Given the description of an element on the screen output the (x, y) to click on. 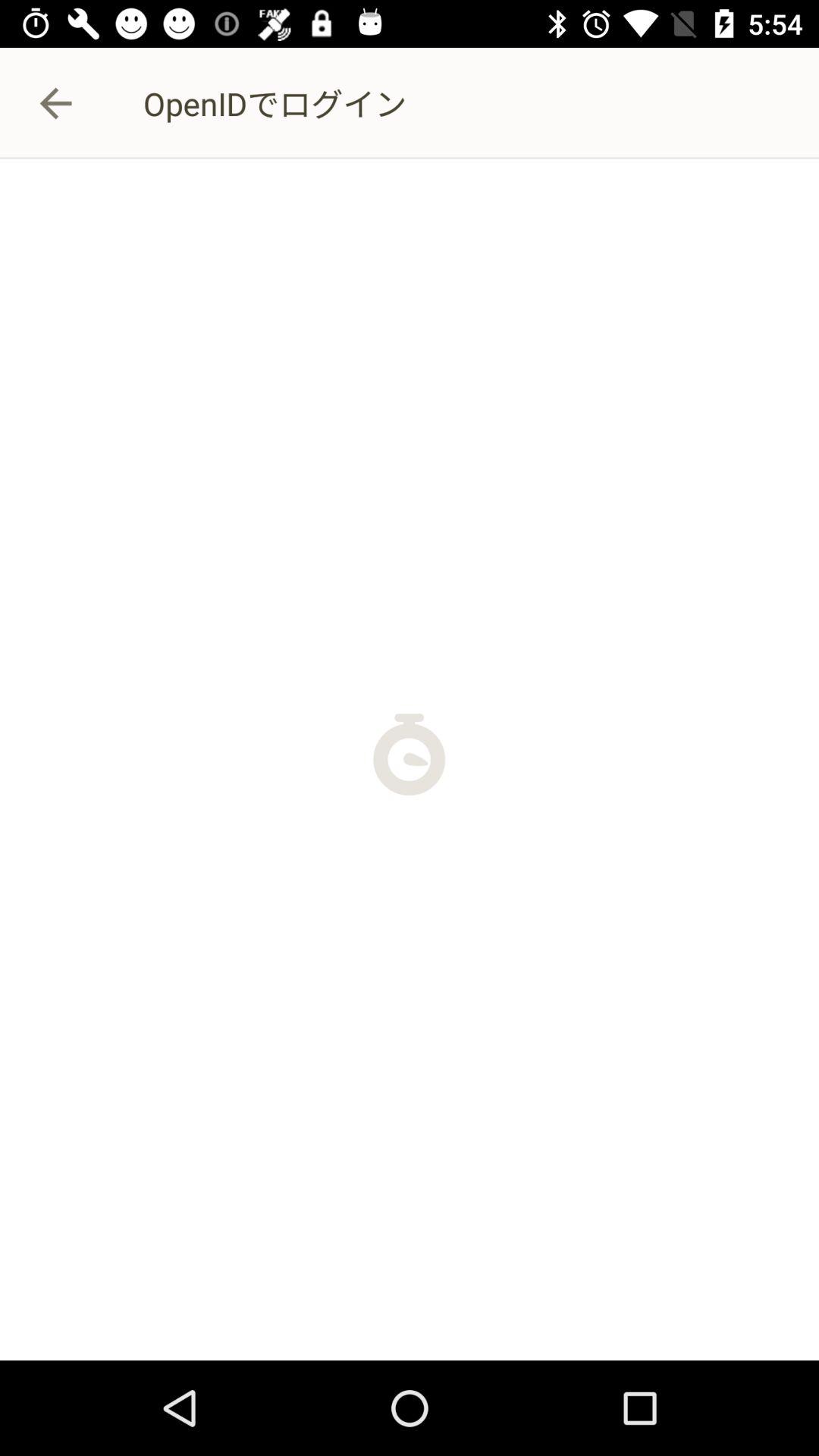
tap icon at the top left corner (55, 103)
